Given the description of an element on the screen output the (x, y) to click on. 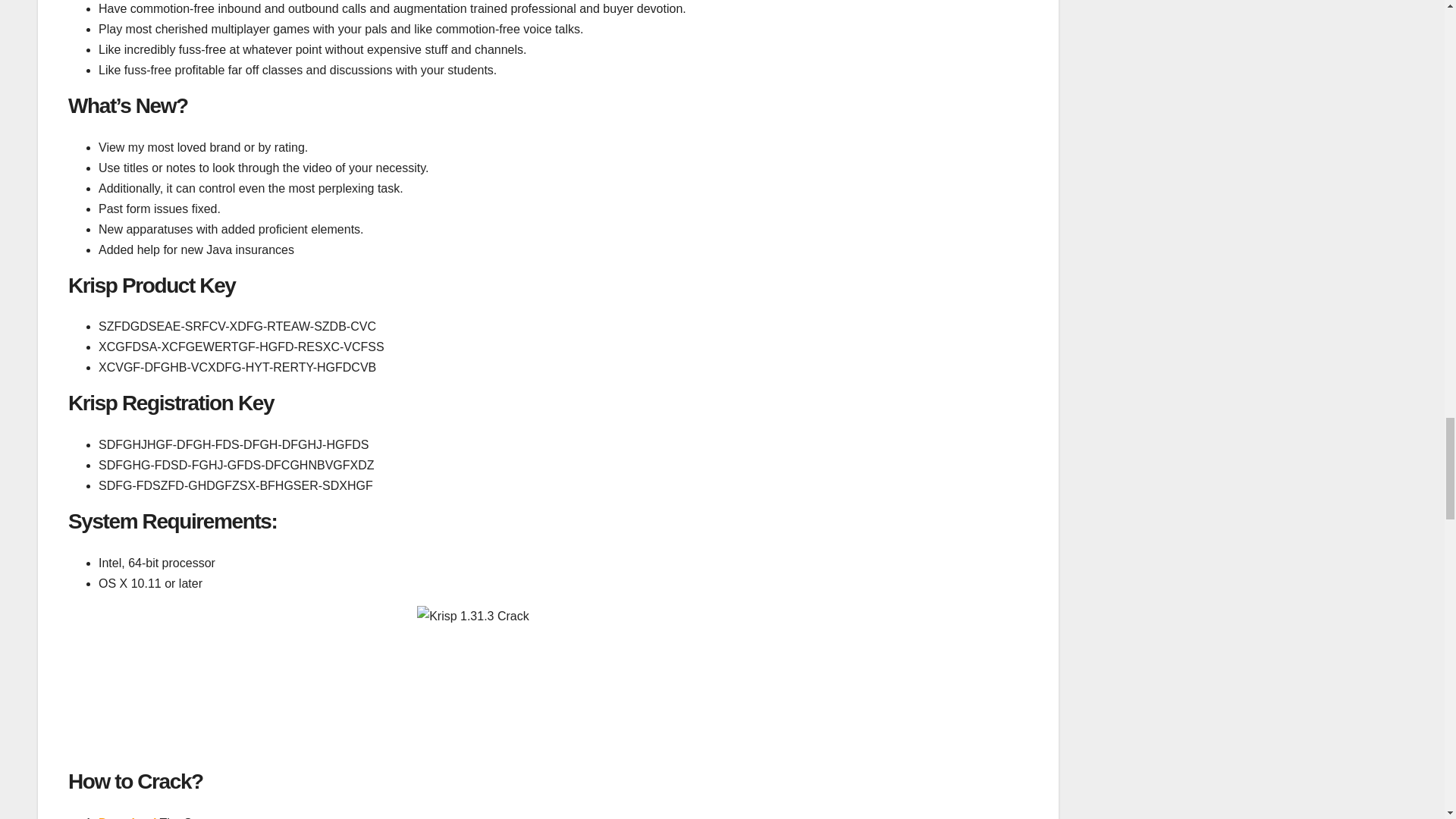
Download (127, 817)
